Given the description of an element on the screen output the (x, y) to click on. 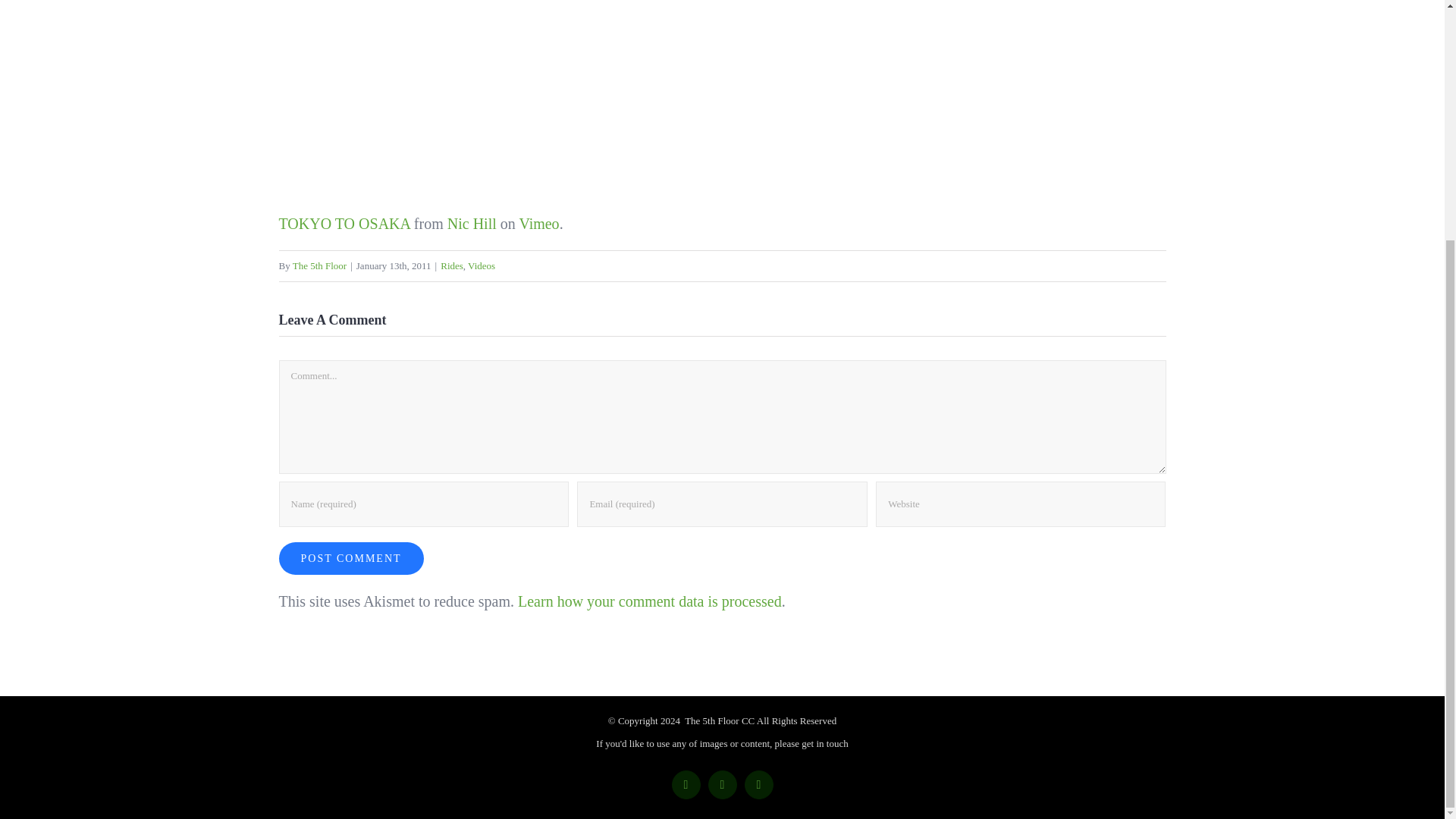
Rides (452, 265)
Nic Hill (471, 223)
Vimeo (538, 223)
Posts by The 5th Floor (319, 265)
Twitter (721, 784)
Instagram (758, 784)
The 5th Floor (319, 265)
Learn how your comment data is processed (649, 600)
Post Comment (351, 558)
TOKYO TO OSAKA (344, 223)
Post Comment (351, 558)
Videos (481, 265)
Facebook (685, 784)
